Given the description of an element on the screen output the (x, y) to click on. 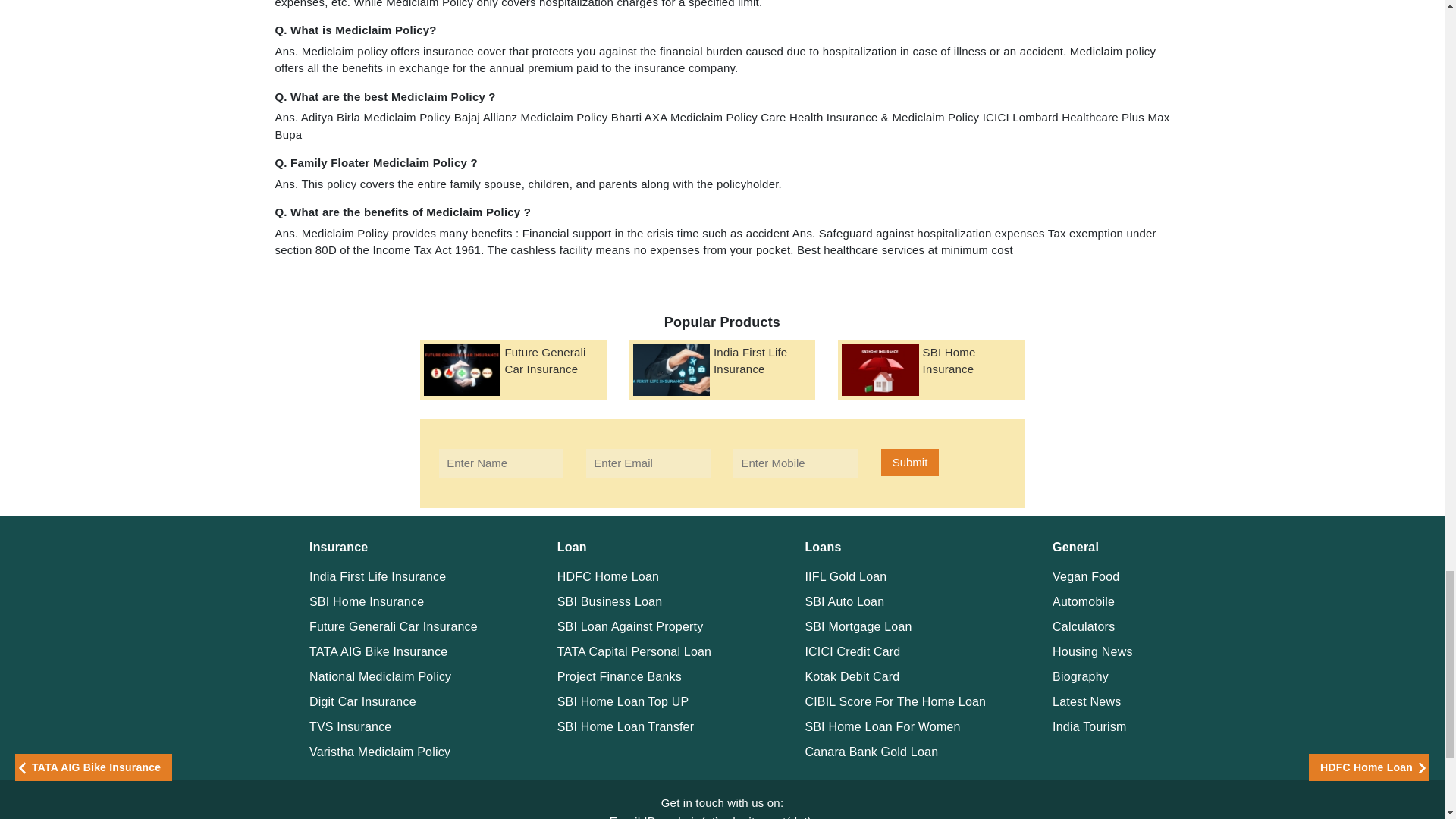
TVS Insurance (349, 726)
CIBIL Score For The Home Loan (895, 700)
SBI Home Loan Transfer (625, 726)
Digit Car Insurance (362, 700)
Future Generali Car Insurance (392, 626)
HDFC Home Loan (608, 576)
SBI Auto Loan (844, 600)
Biography (1080, 676)
Automobile (1083, 600)
Varistha Mediclaim Policy (378, 750)
SBI Home Loan For Women (882, 726)
Housing News (1092, 650)
India First Life Insurance (376, 576)
Calculators (1083, 626)
IIFL Gold Loan (845, 576)
